Given the description of an element on the screen output the (x, y) to click on. 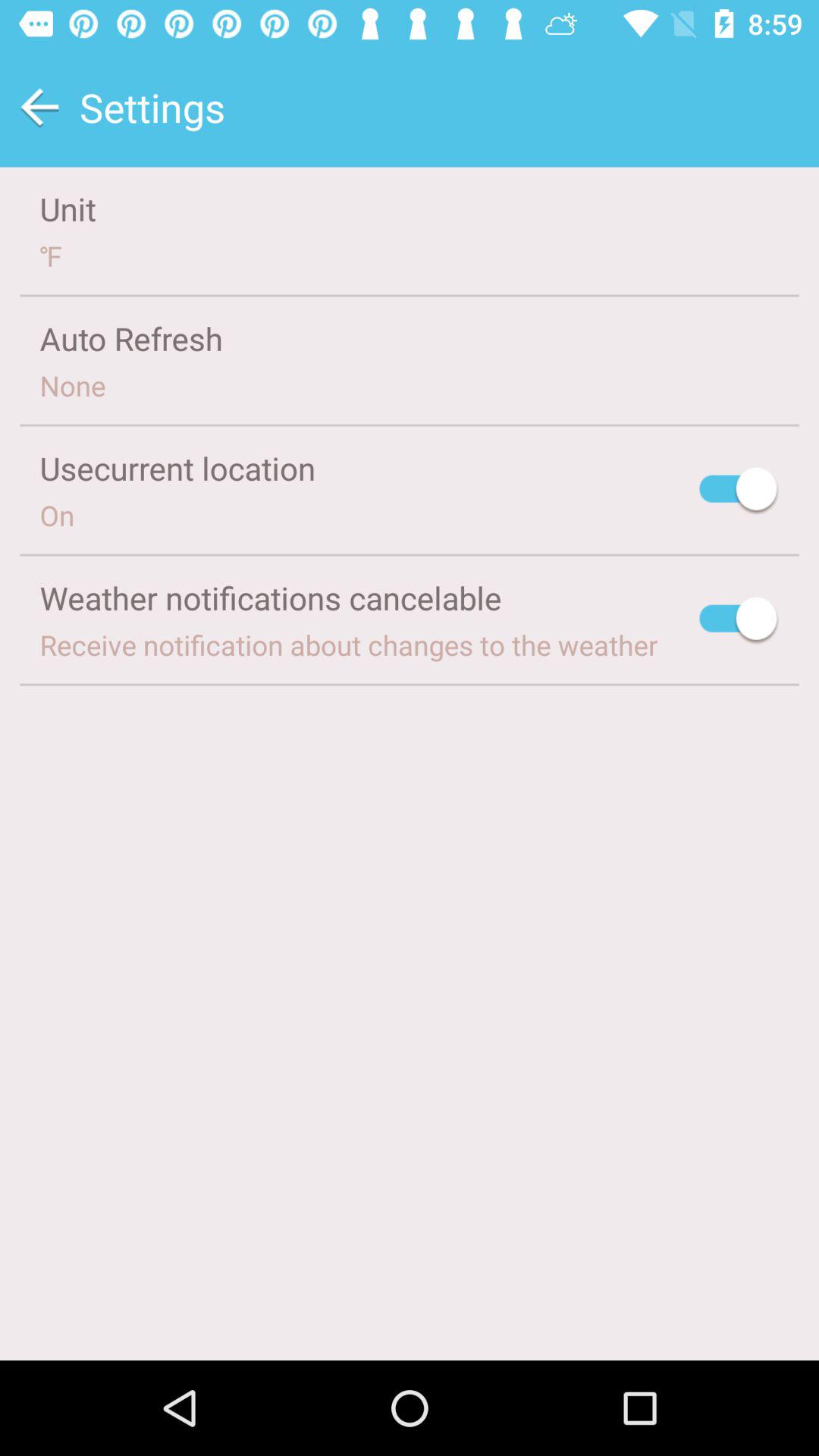
activate weather notifications (739, 620)
